Given the description of an element on the screen output the (x, y) to click on. 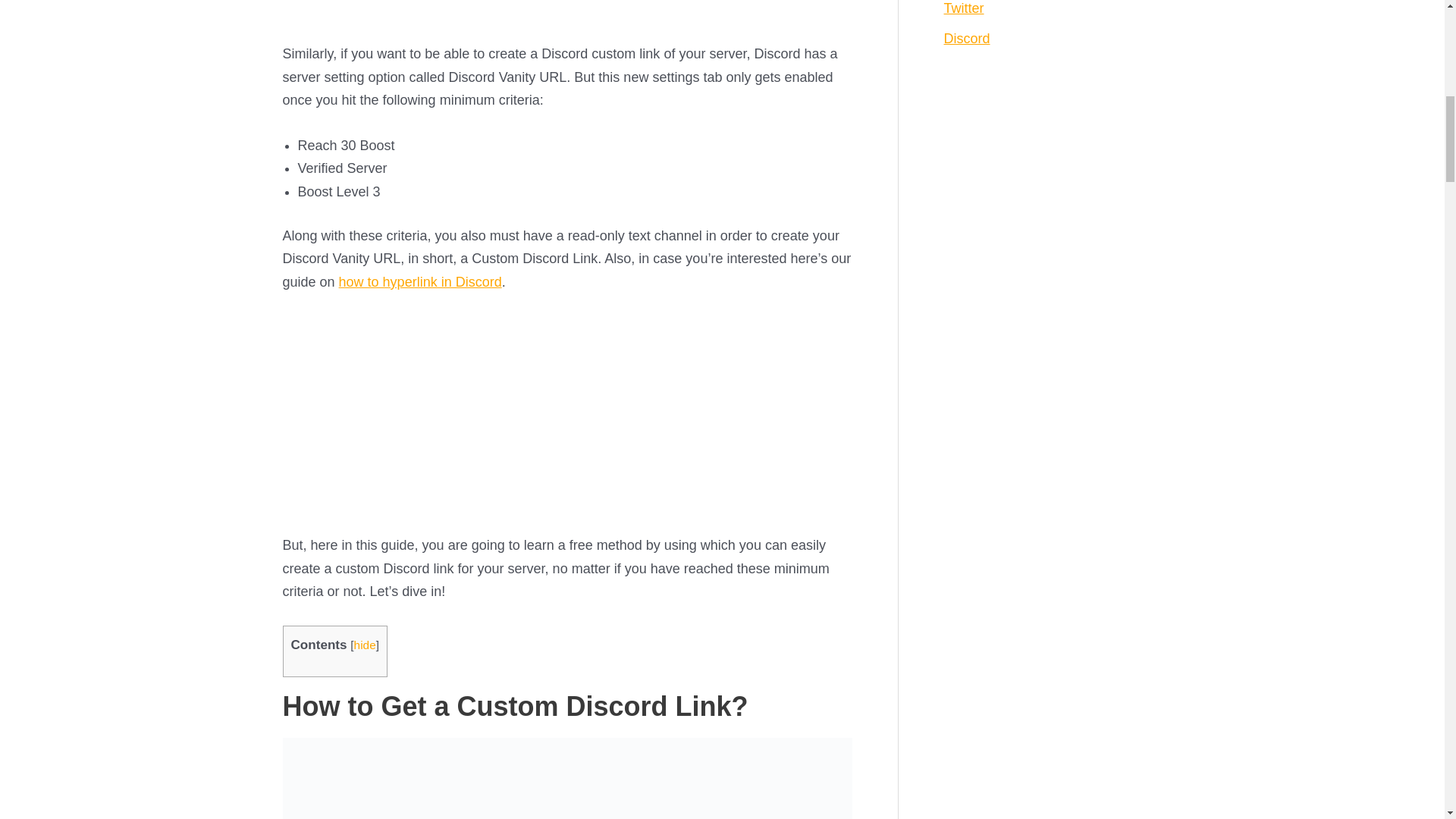
Advertisement (566, 421)
Advertisement (566, 18)
hide (364, 644)
how to hyperlink in Discord (420, 281)
